Given the description of an element on the screen output the (x, y) to click on. 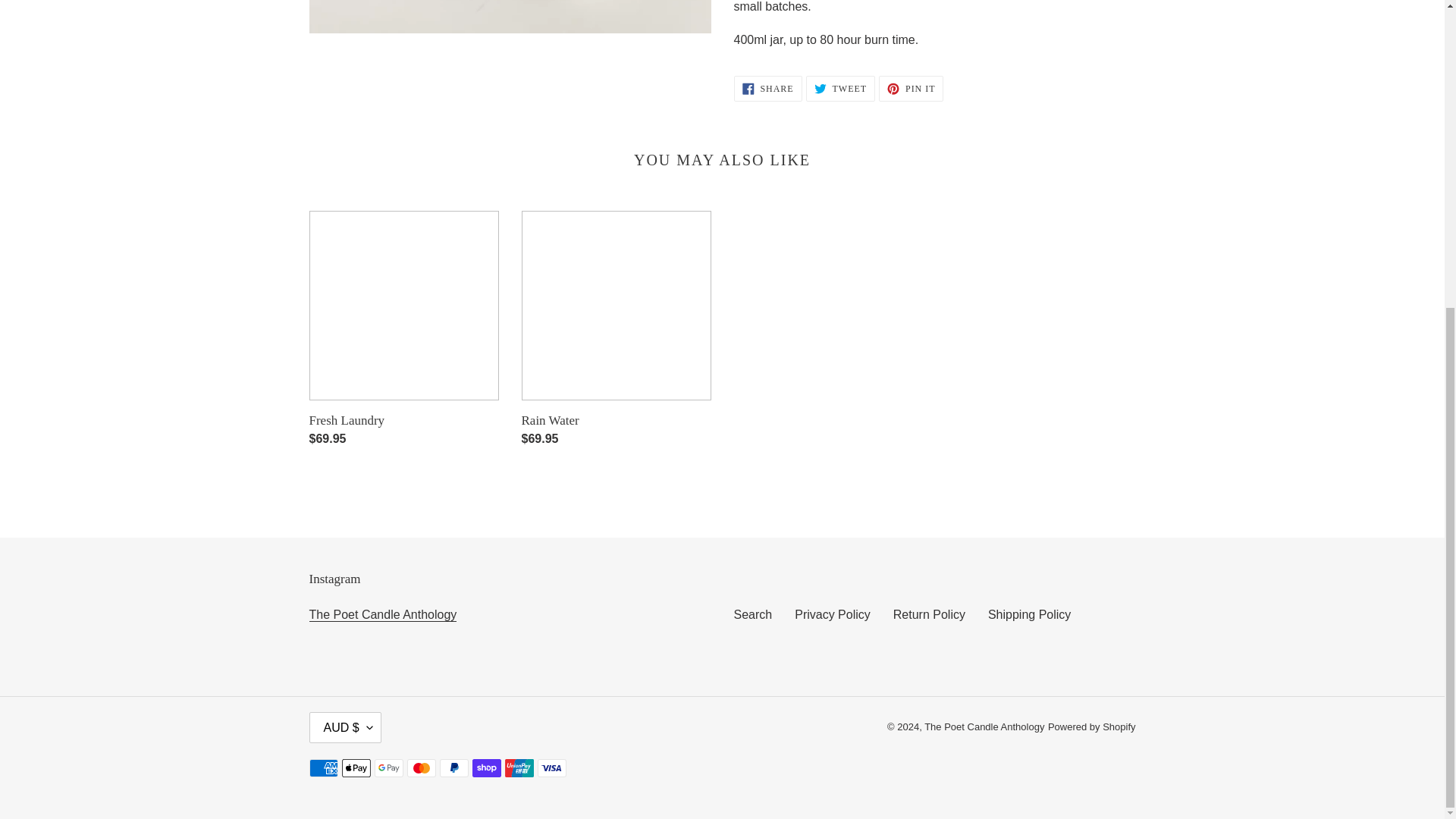
Return Policy (929, 614)
The Poet Candle Anthology (767, 88)
Shipping Policy (840, 88)
Privacy Policy (382, 614)
Search (1029, 614)
